Given the description of an element on the screen output the (x, y) to click on. 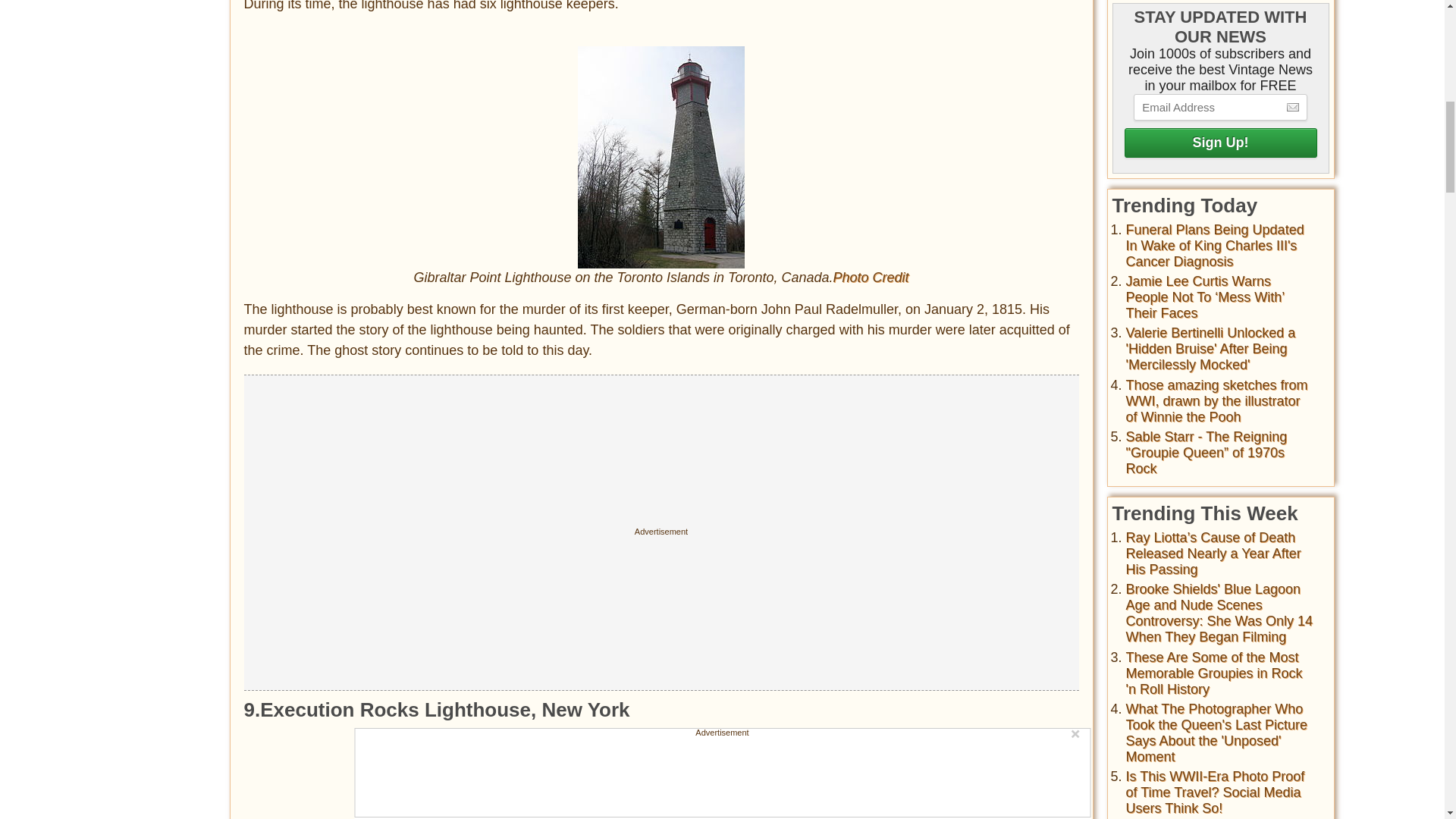
Sign Up! (1220, 142)
